Given the description of an element on the screen output the (x, y) to click on. 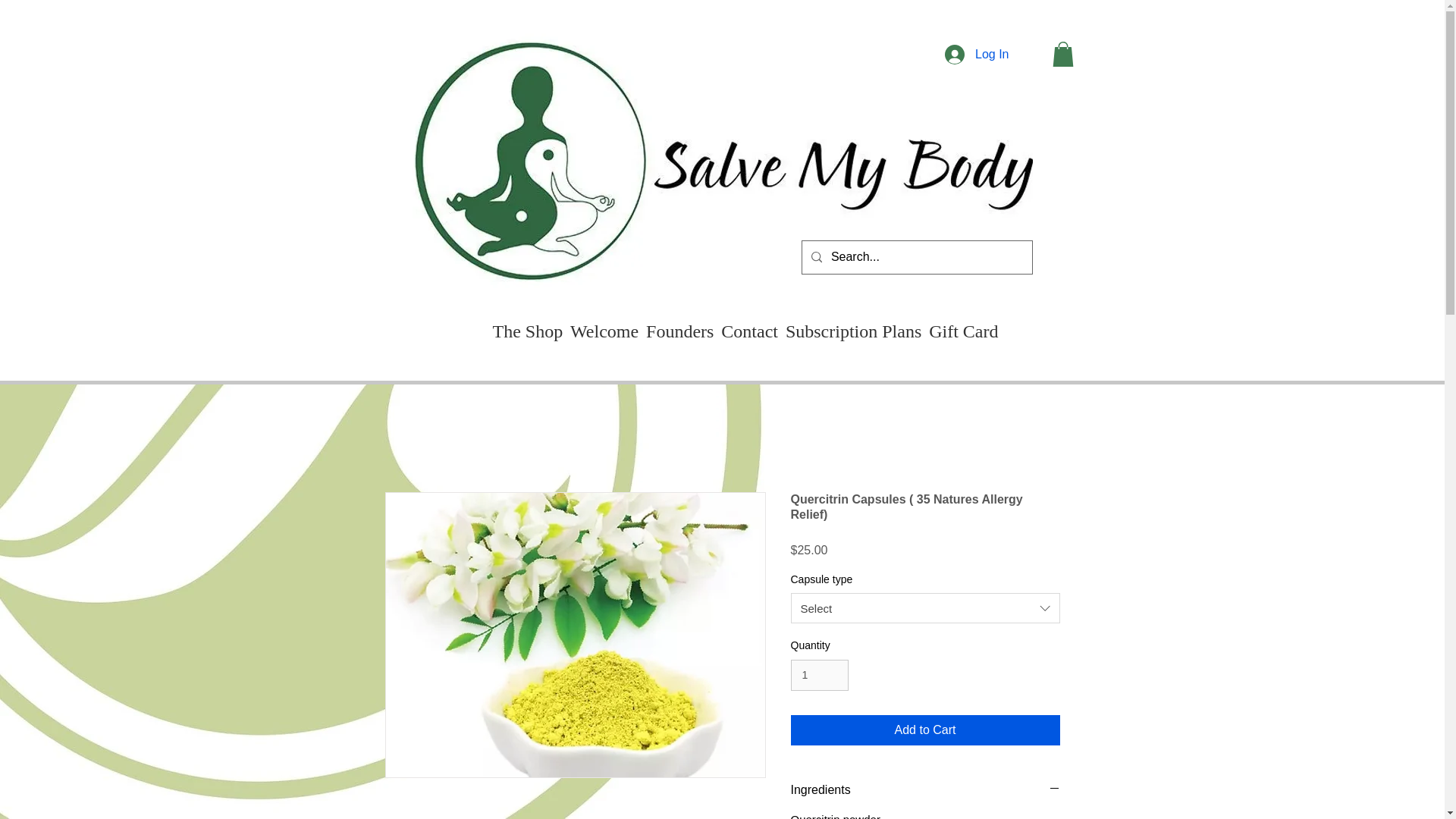
Add to Cart (924, 729)
Log In (976, 54)
Founders (679, 331)
Gift Card (962, 331)
Subscription Plans (852, 331)
Welcome (604, 331)
1 (818, 675)
Contact (749, 331)
The Shop (526, 331)
Select (924, 607)
Ingredients (924, 790)
